Given the description of an element on the screen output the (x, y) to click on. 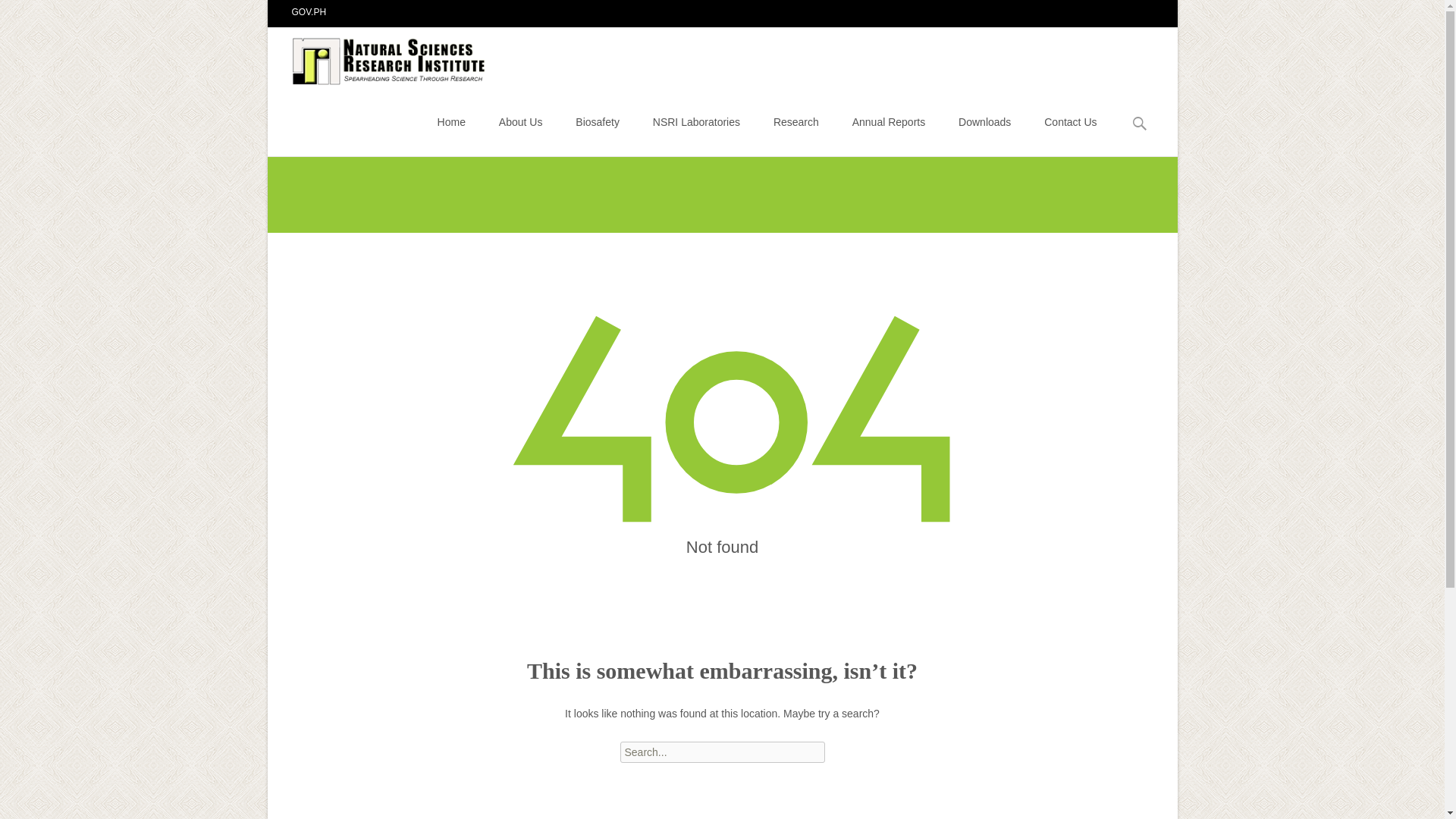
GOV.PH (308, 11)
Search (18, 14)
Search (34, 14)
Search for: (722, 752)
Search for: (1139, 123)
Annual Reports (888, 121)
Natural Sciences Research Institute (378, 57)
NSRI Laboratories (695, 121)
